Given the description of an element on the screen output the (x, y) to click on. 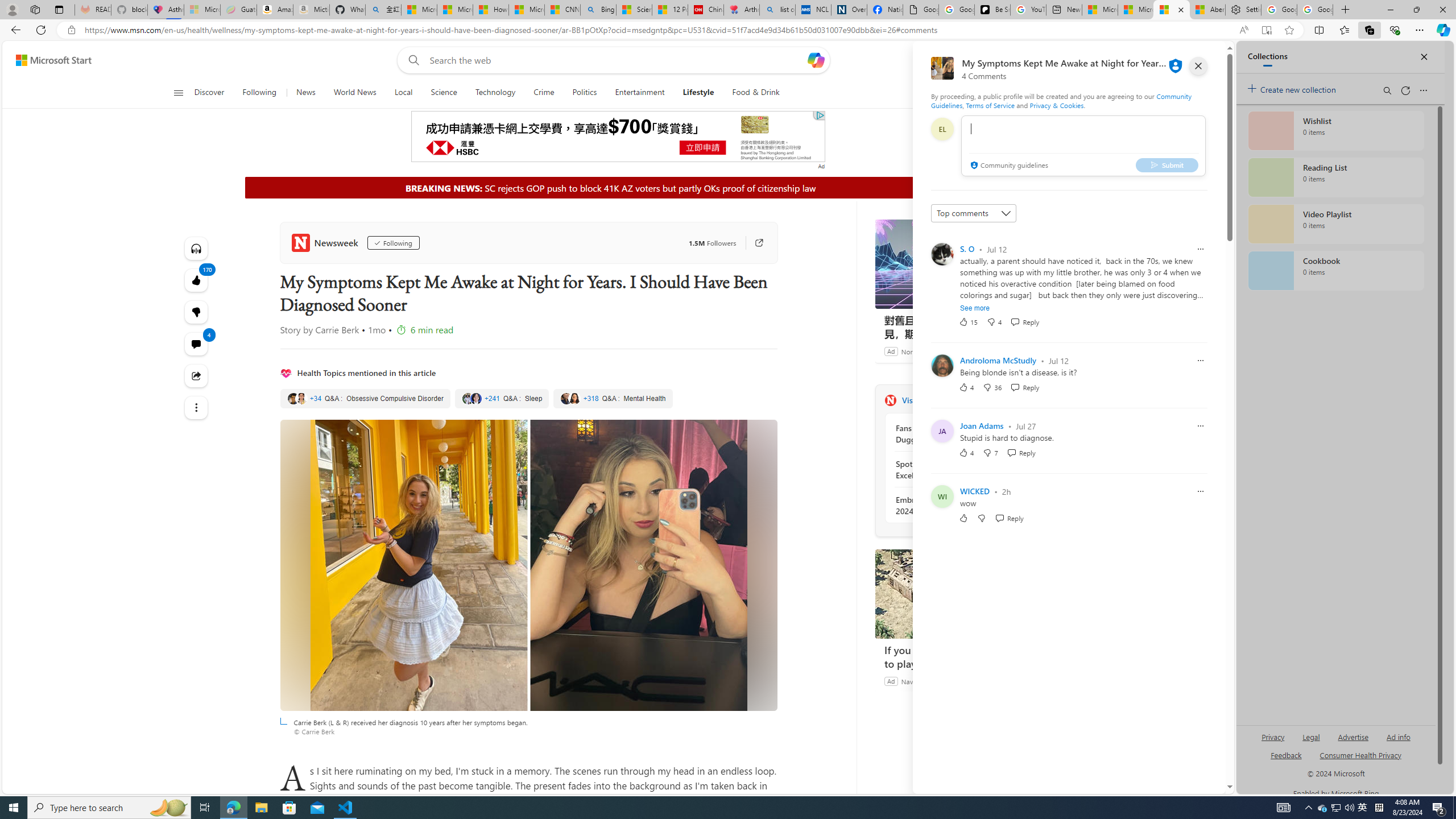
Like (962, 517)
Terms of Service (989, 104)
Class: at-item (196, 407)
Submit (1166, 164)
